Given the description of an element on the screen output the (x, y) to click on. 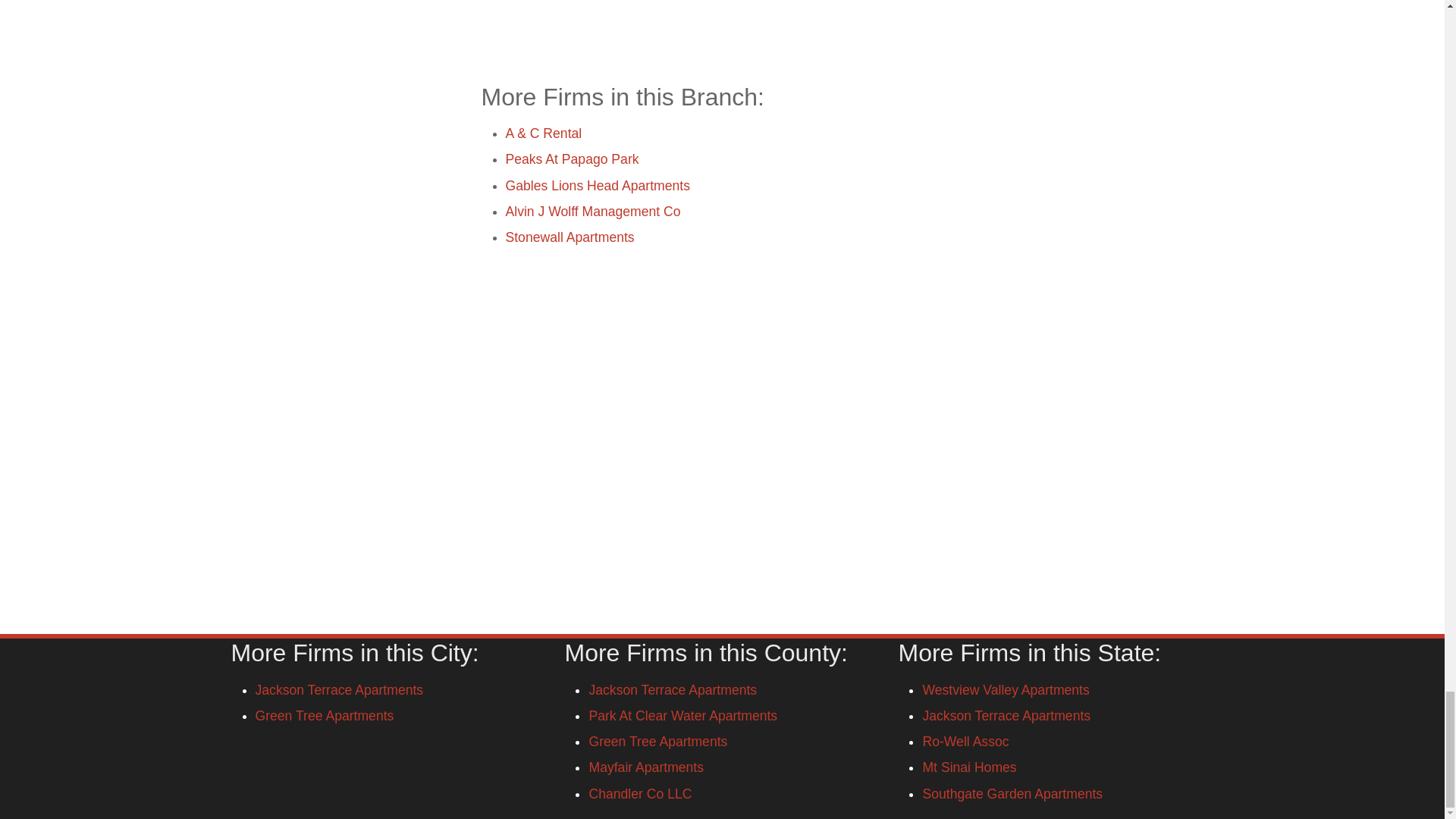
Alvin J Wolff Management Co (592, 211)
Gables Lions Head Apartments (597, 185)
Peaks At Papago Park (572, 159)
Stonewall Apartments (569, 237)
